Given the description of an element on the screen output the (x, y) to click on. 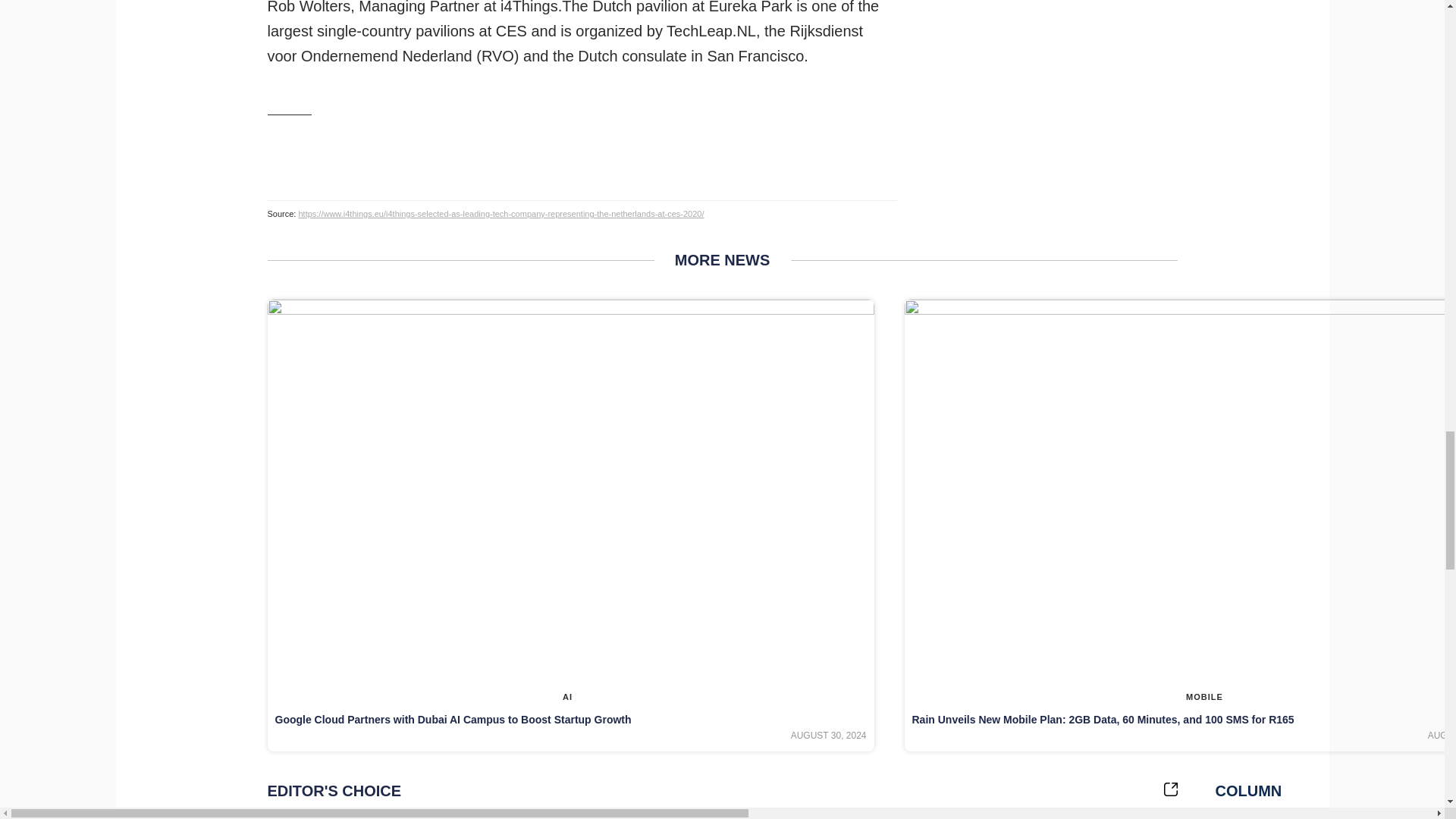
EDITOR'S CHOICE (721, 791)
